Given the description of an element on the screen output the (x, y) to click on. 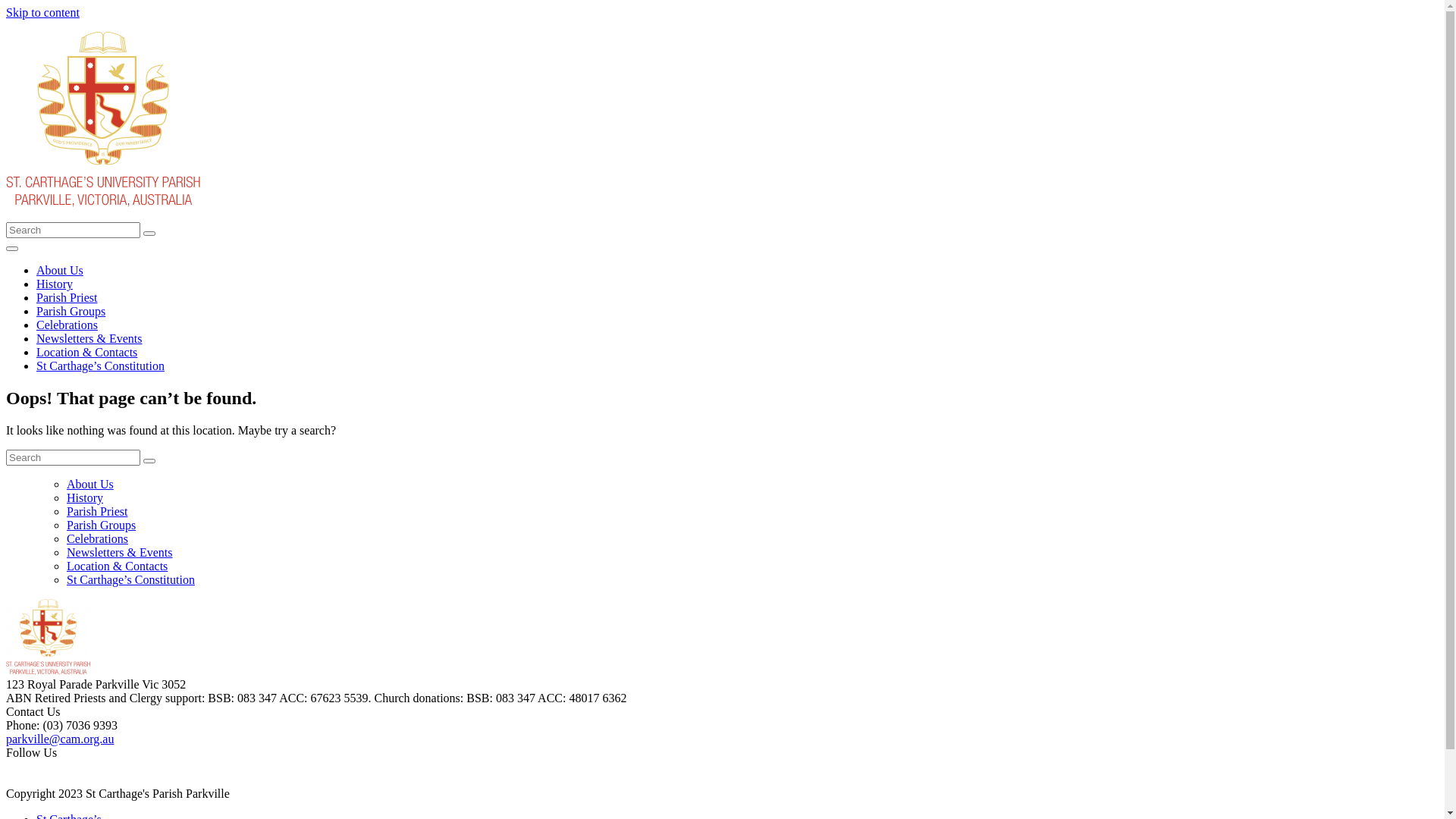
Newsletters & Events Element type: text (119, 552)
About Us Element type: text (59, 269)
Parish Priest Element type: text (66, 297)
Parish Priest Element type: text (96, 511)
Parish Groups Element type: text (70, 310)
Celebrations Element type: text (97, 538)
About Us Element type: text (89, 483)
Newsletters & Events Element type: text (89, 338)
Location & Contacts Element type: text (116, 565)
History Element type: text (54, 283)
Skip to content Element type: text (42, 12)
Celebrations Element type: text (66, 324)
Parish Groups Element type: text (100, 524)
History Element type: text (84, 497)
Location & Contacts Element type: text (86, 351)
www.stcarthagesparkville.org.au Element type: text (722, 766)
parkville@cam.org.au Element type: text (59, 738)
